Given the description of an element on the screen output the (x, y) to click on. 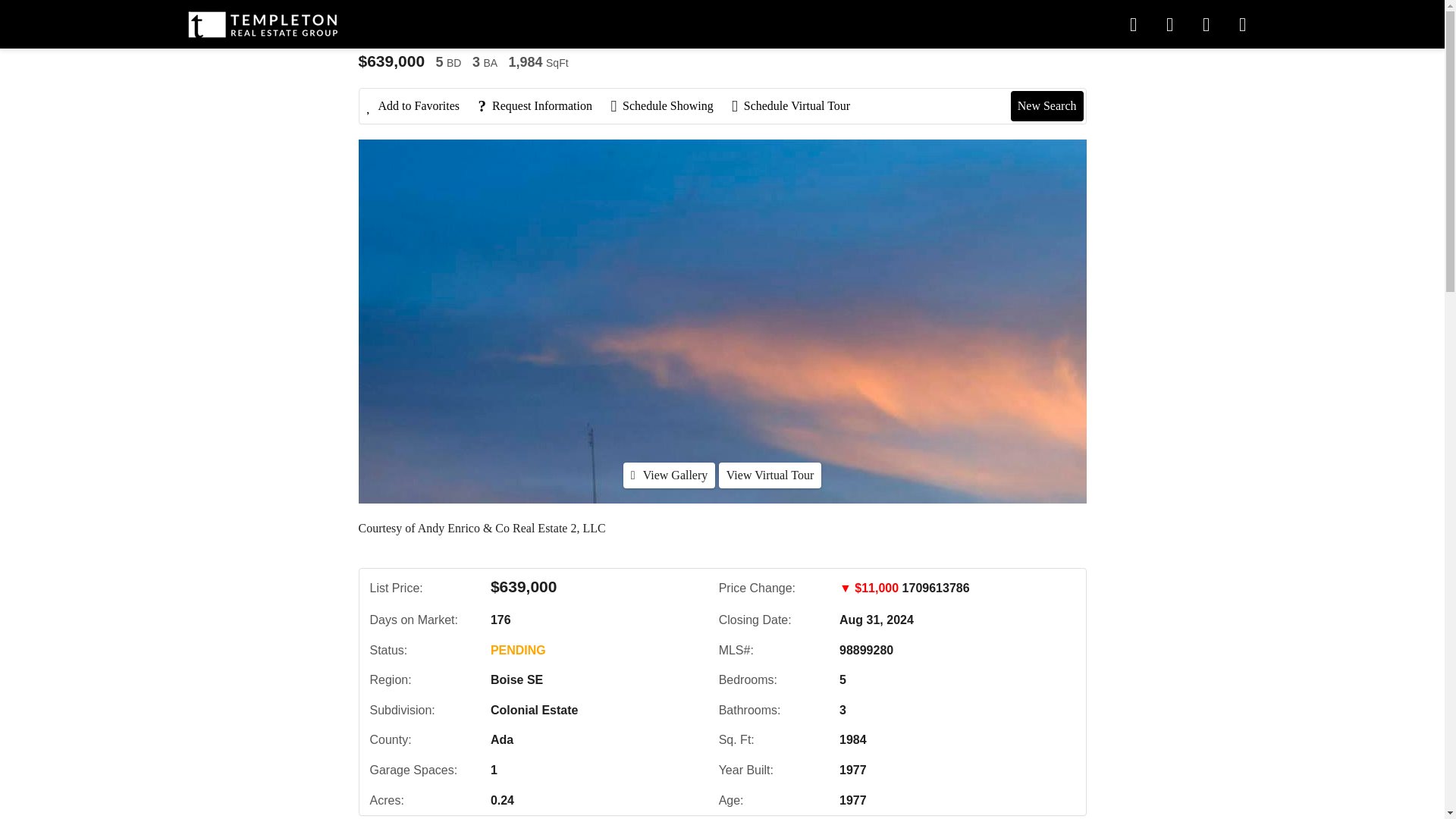
View Virtual Tour (770, 475)
View Gallery (669, 474)
Login or Signup (1206, 23)
New Search (1046, 105)
Open contact form (1133, 23)
Request Information (542, 106)
Schedule Showing (669, 106)
Schedule Virtual Tour (798, 106)
View Gallery (669, 475)
Contact by Phone (1169, 23)
